Given the description of an element on the screen output the (x, y) to click on. 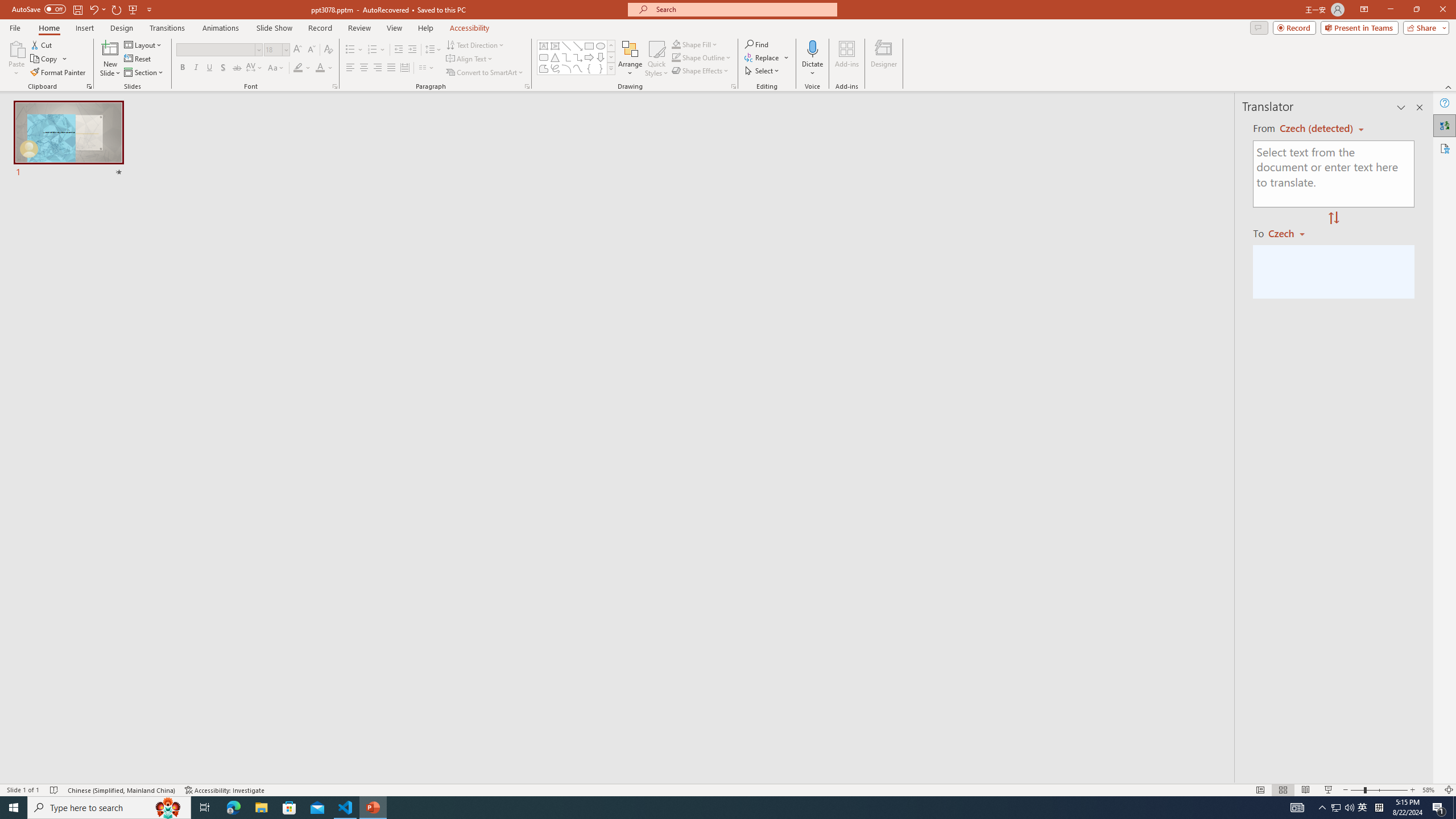
Google Chrome (729, 800)
Manage (76, 712)
Outline Section (188, 615)
Class: next-menu next-hoz widgets--iconMenu--BFkiHRM (1064, 114)
